Given the description of an element on the screen output the (x, y) to click on. 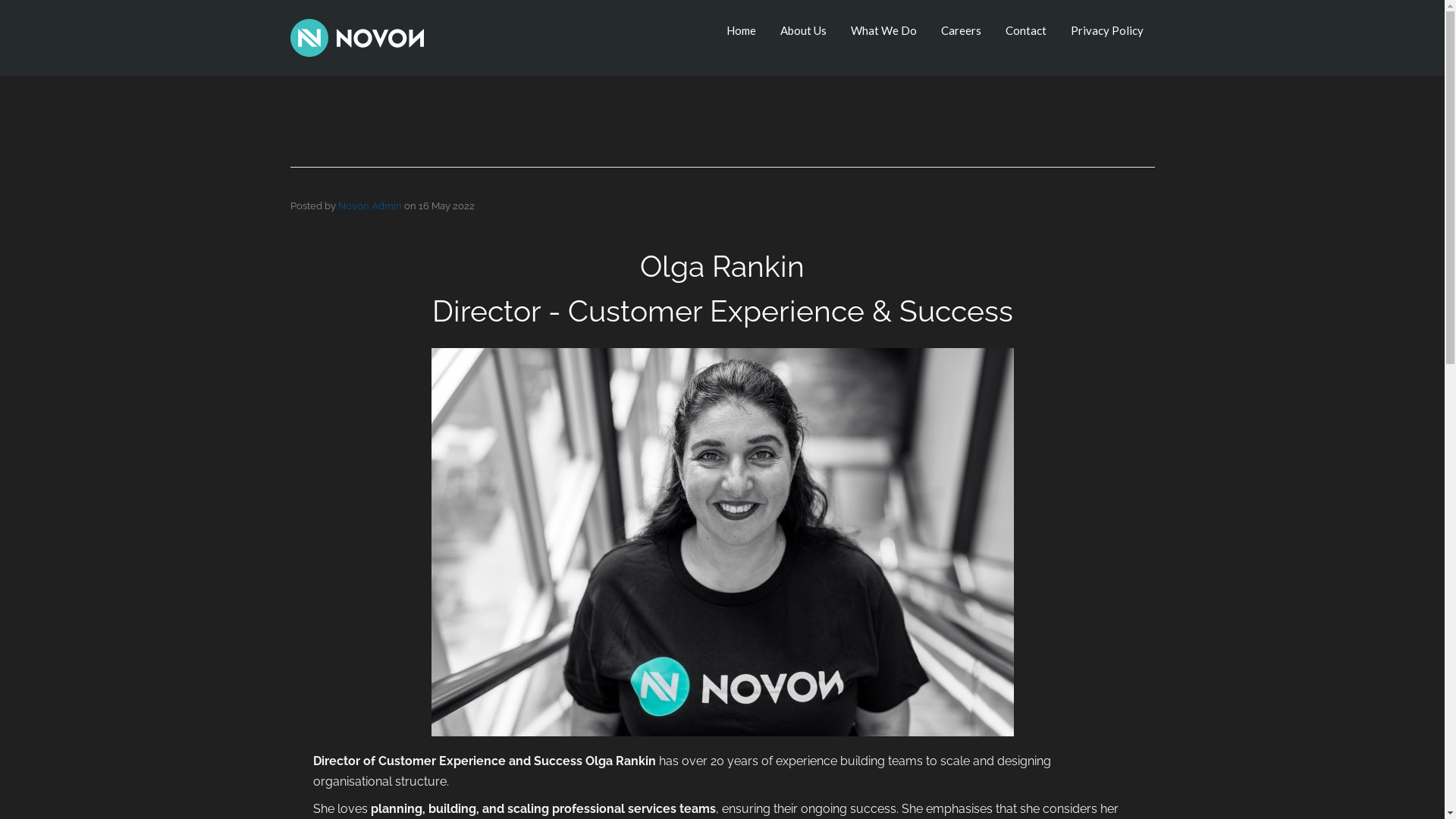
Privacy Policy Element type: text (1106, 30)
Home Element type: text (741, 30)
Contact Element type: text (1025, 30)
About Us Element type: text (802, 30)
Careers Element type: text (960, 30)
What We Do Element type: text (883, 30)
Novon Admin Element type: text (369, 205)
